Given the description of an element on the screen output the (x, y) to click on. 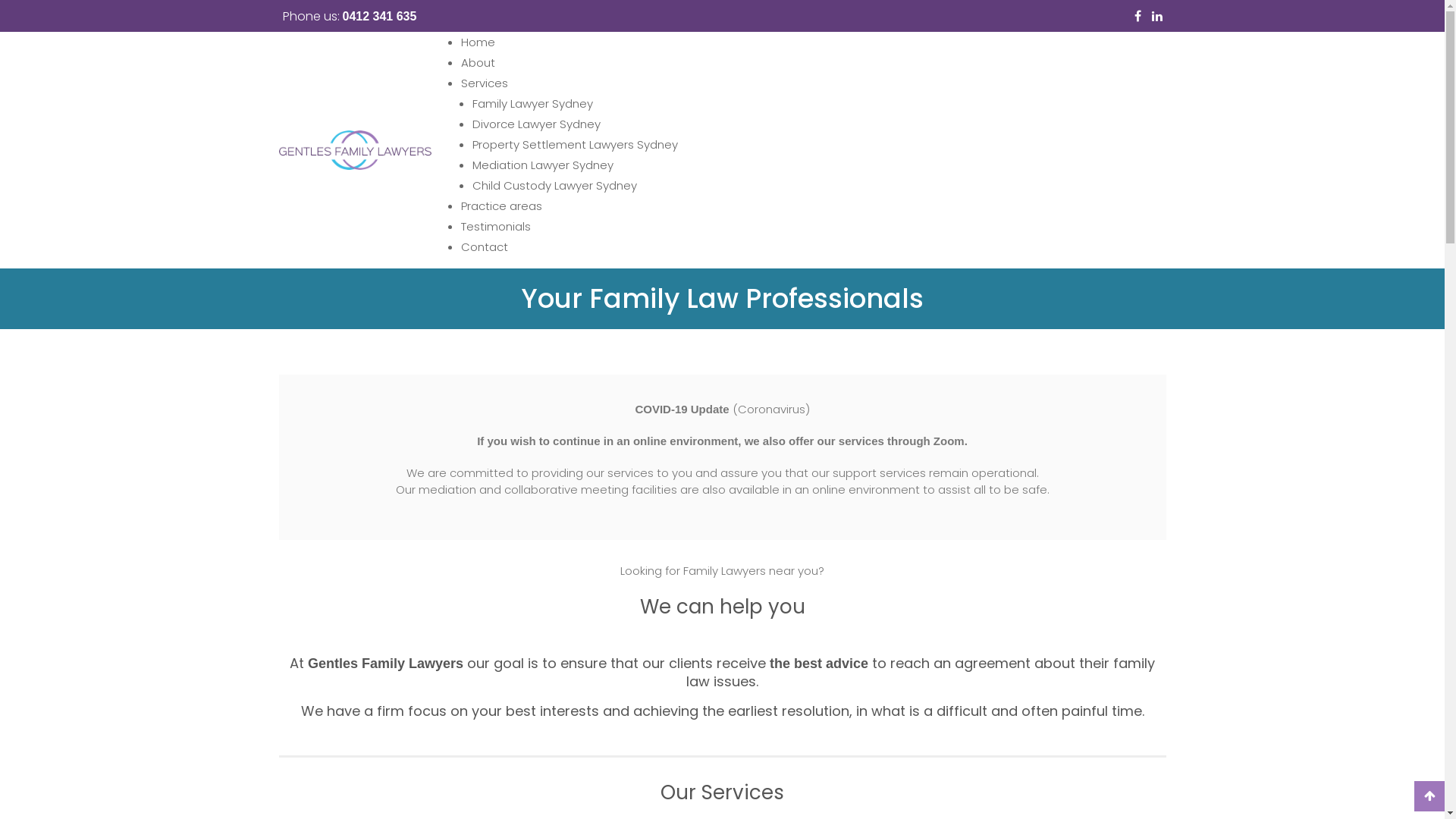
Testimonials Element type: text (495, 226)
Family Lawyer Sydney Element type: text (532, 103)
Services Element type: text (484, 83)
Practice areas Element type: text (501, 205)
Mediation Lawyer Sydney Element type: text (542, 164)
Contact Element type: text (484, 246)
Property Settlement Lawyers Sydney Element type: text (574, 144)
Child Custody Lawyer Sydney Element type: text (554, 185)
Home Element type: text (478, 42)
Divorce Lawyer Sydney Element type: text (536, 123)
About Element type: text (478, 62)
